Given the description of an element on the screen output the (x, y) to click on. 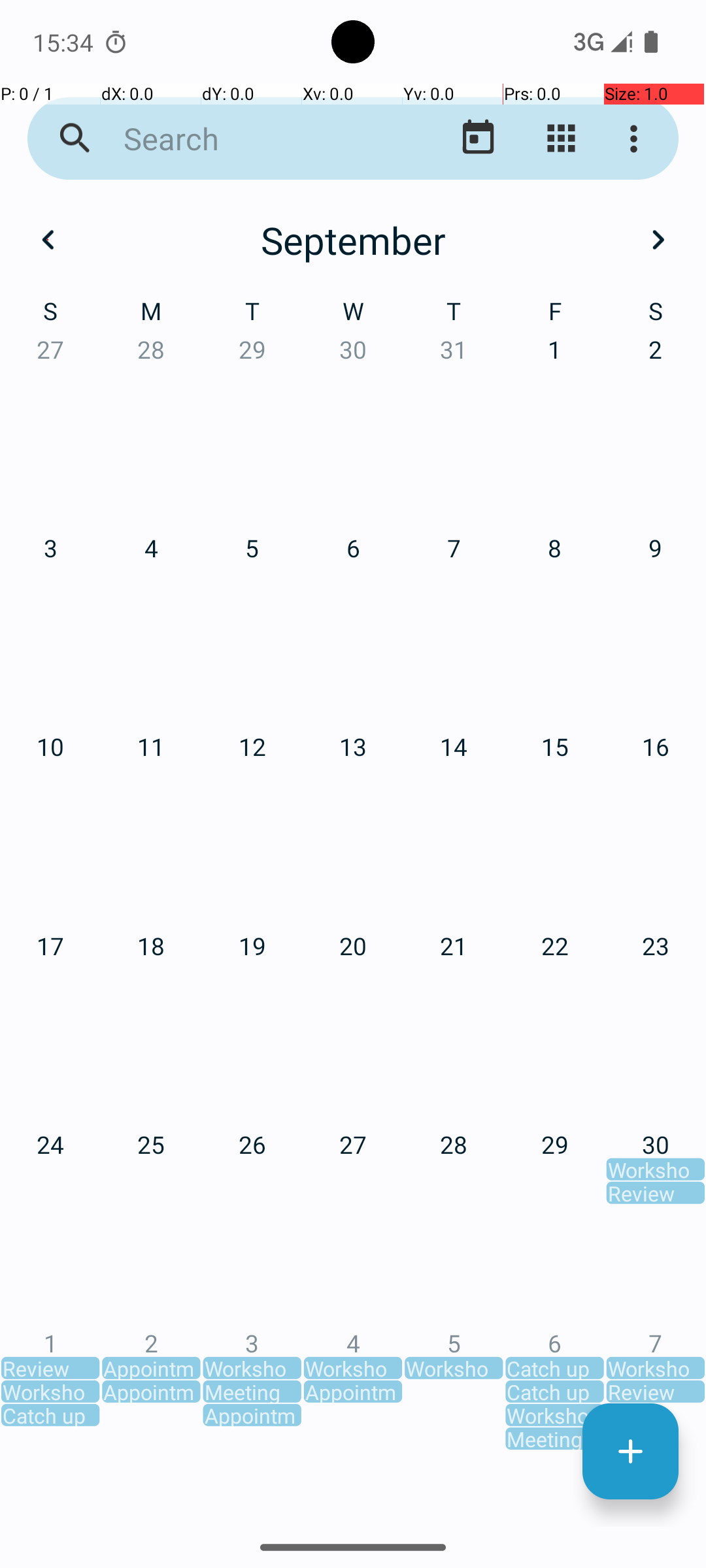
September Element type: android.widget.TextView (352, 239)
